Given the description of an element on the screen output the (x, y) to click on. 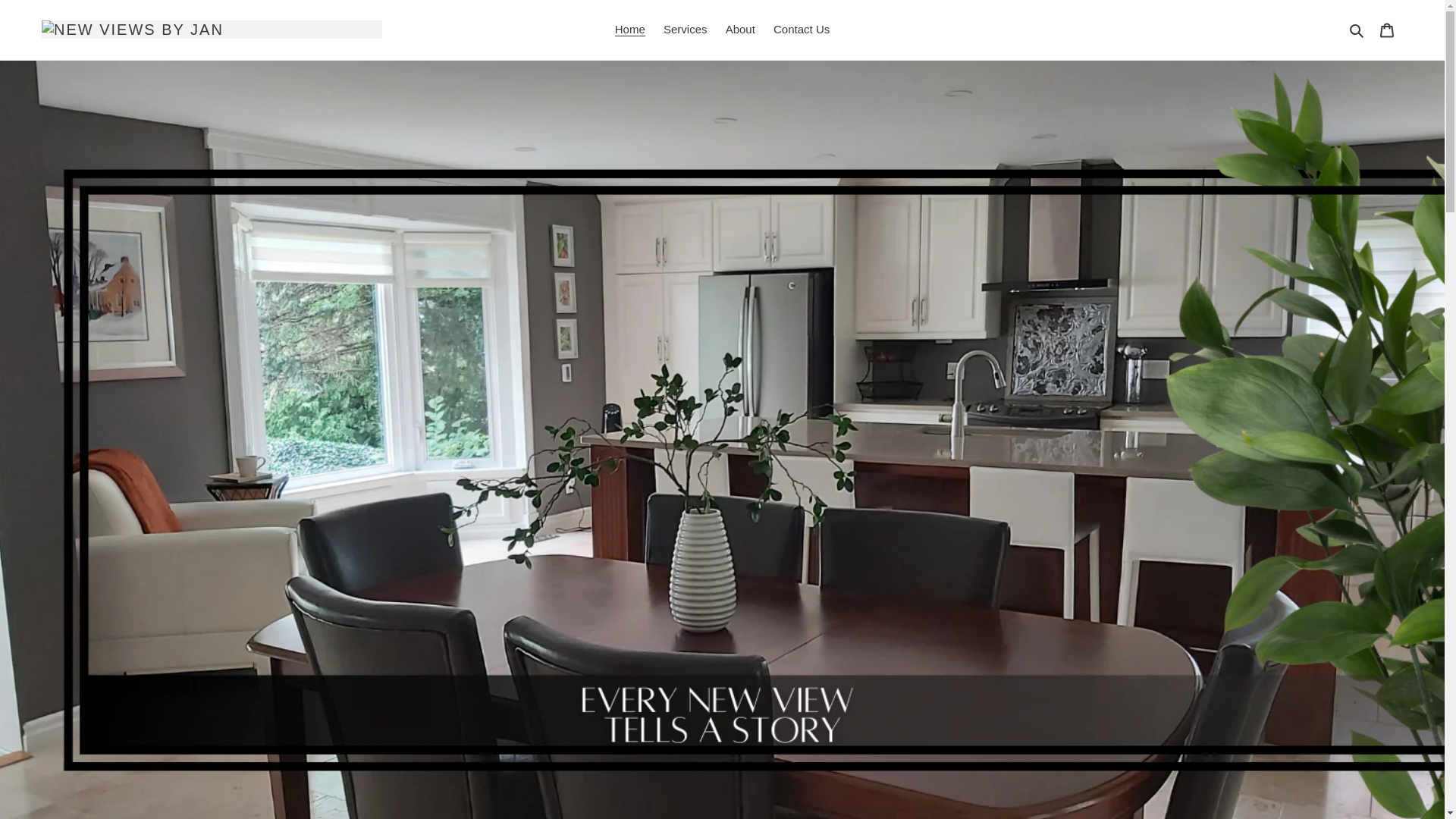
About (739, 29)
Services (685, 29)
Home (629, 29)
Cart (1387, 29)
Search (1357, 29)
Contact Us (801, 29)
